Given the description of an element on the screen output the (x, y) to click on. 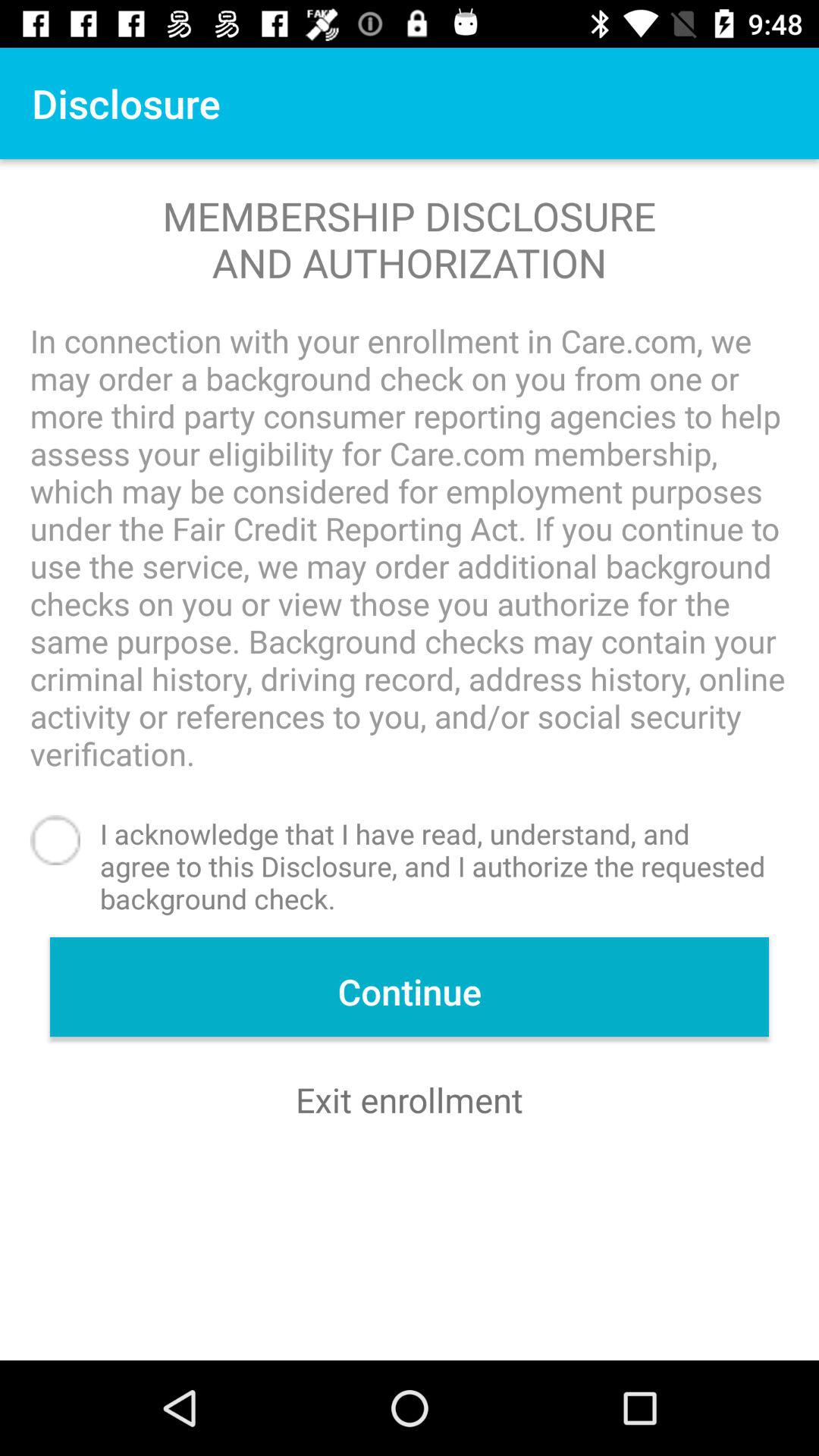
turn on exit enrollment icon (409, 1099)
